Given the description of an element on the screen output the (x, y) to click on. 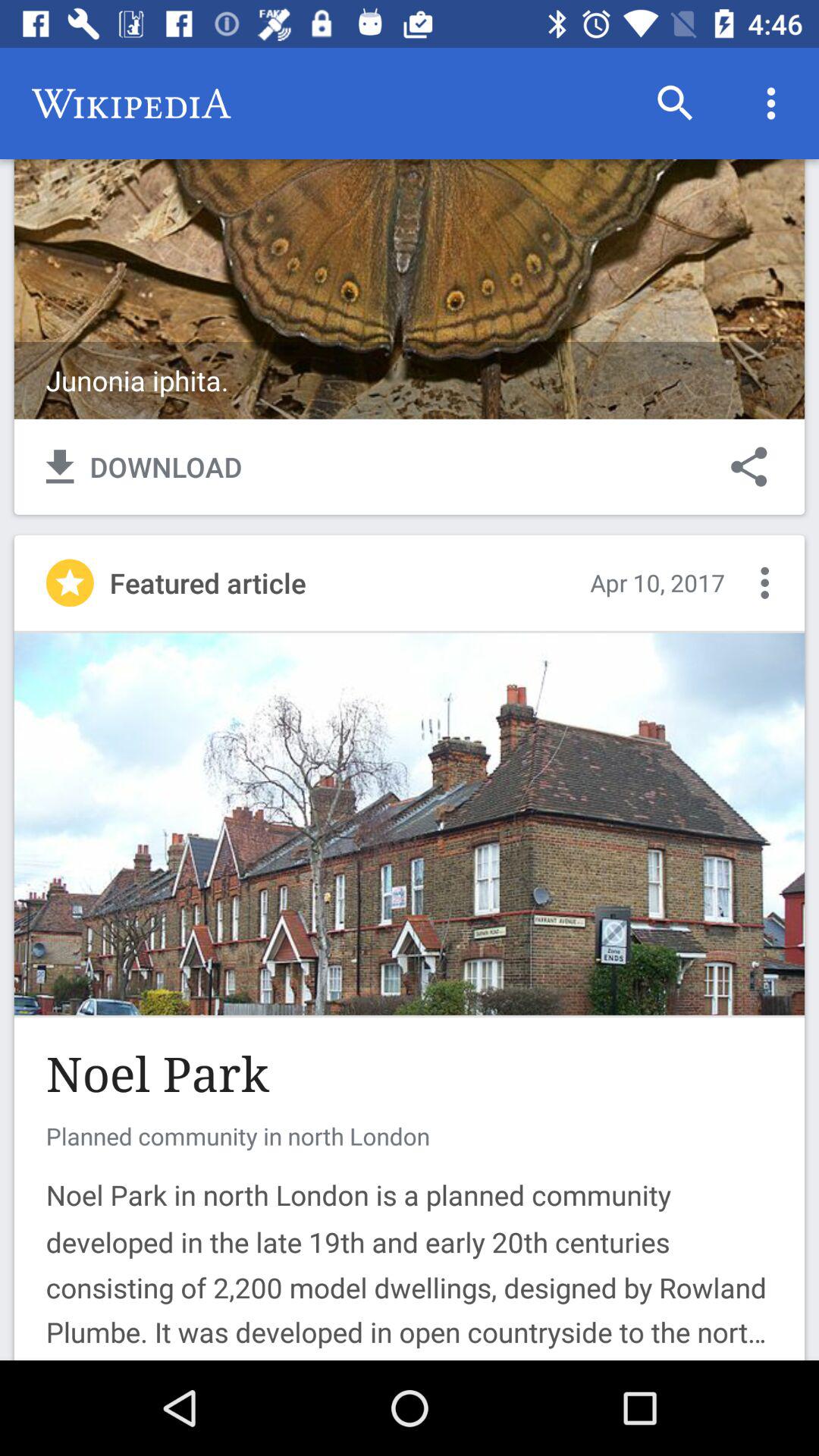
select the text along with the symbol left to share button (144, 467)
go to text left sicde of search icon (130, 103)
click on the search button at top right (675, 103)
choose the icon after the search icon (771, 103)
click on share button right to download (748, 467)
